Given the description of an element on the screen output the (x, y) to click on. 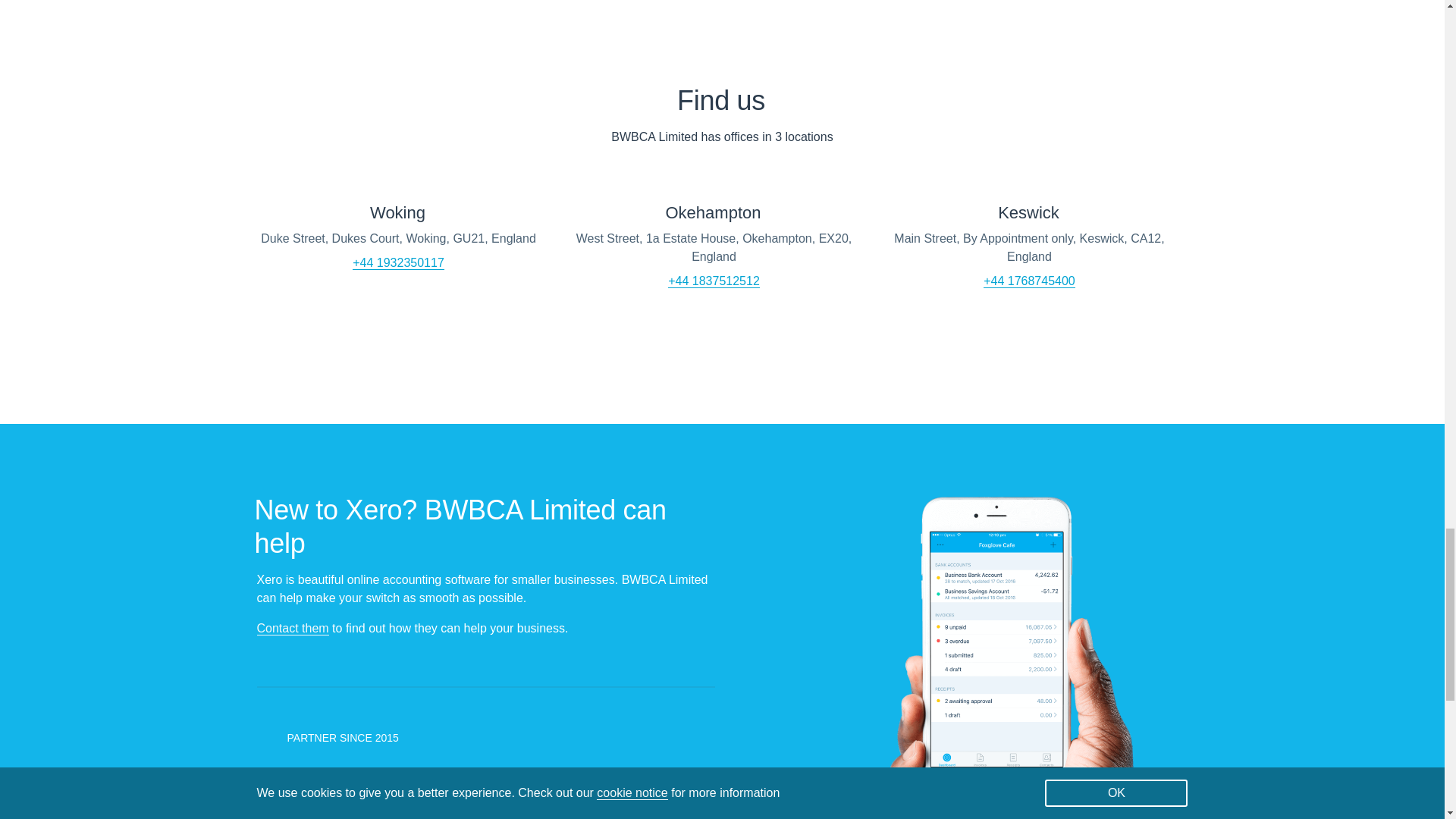
Contact them (292, 628)
